Given the description of an element on the screen output the (x, y) to click on. 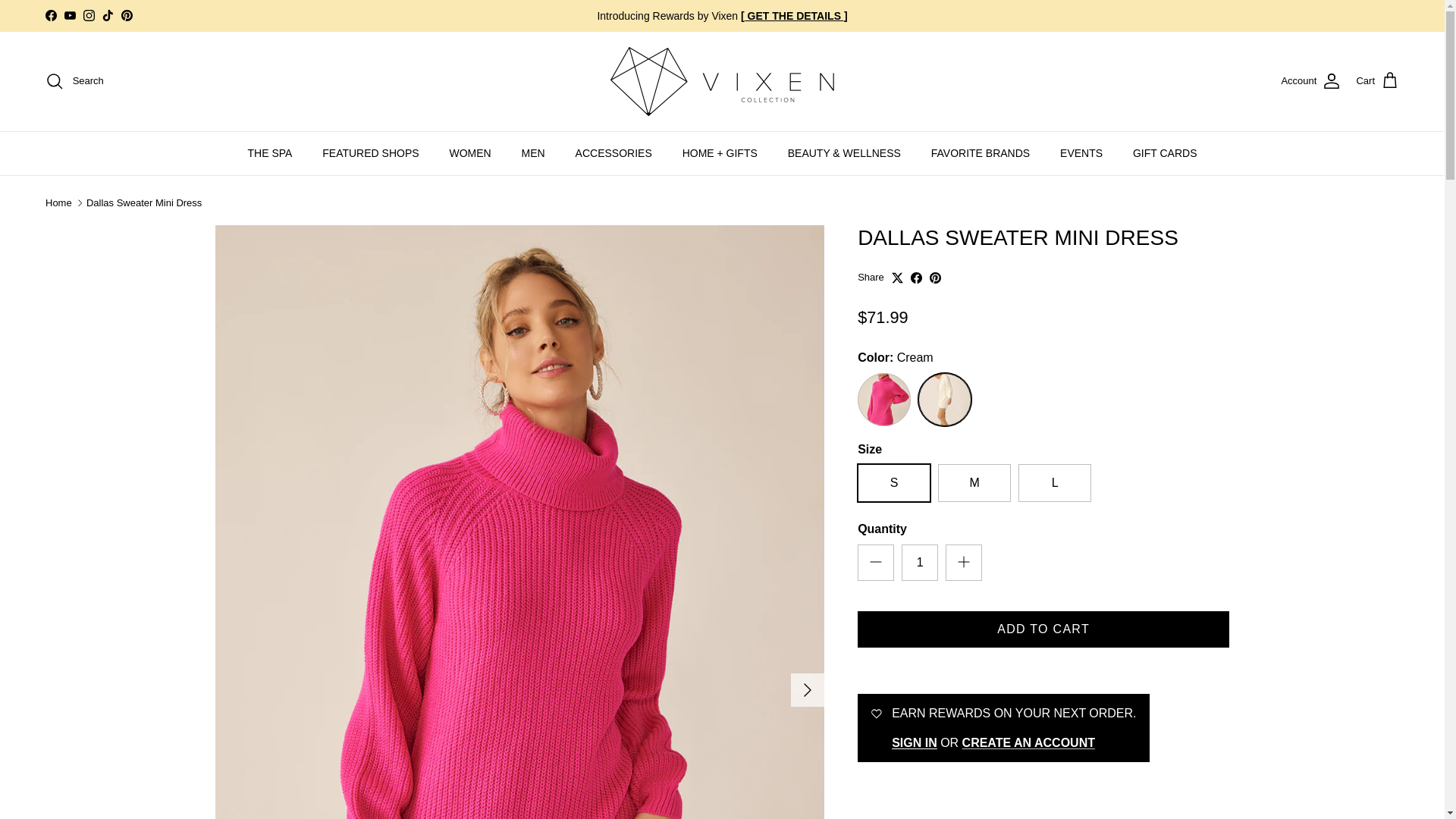
FEATURED SHOPS (370, 153)
Pin on Pinterest (935, 277)
Share on Facebook (916, 277)
1 (919, 562)
Vixen Collection on TikTok (107, 15)
Vixen Collection on YouTube (69, 15)
Vixen Collection on Instagram (88, 15)
Search (74, 81)
Pinterest (126, 15)
Vixen Collection Account Sign In (914, 742)
